Given the description of an element on the screen output the (x, y) to click on. 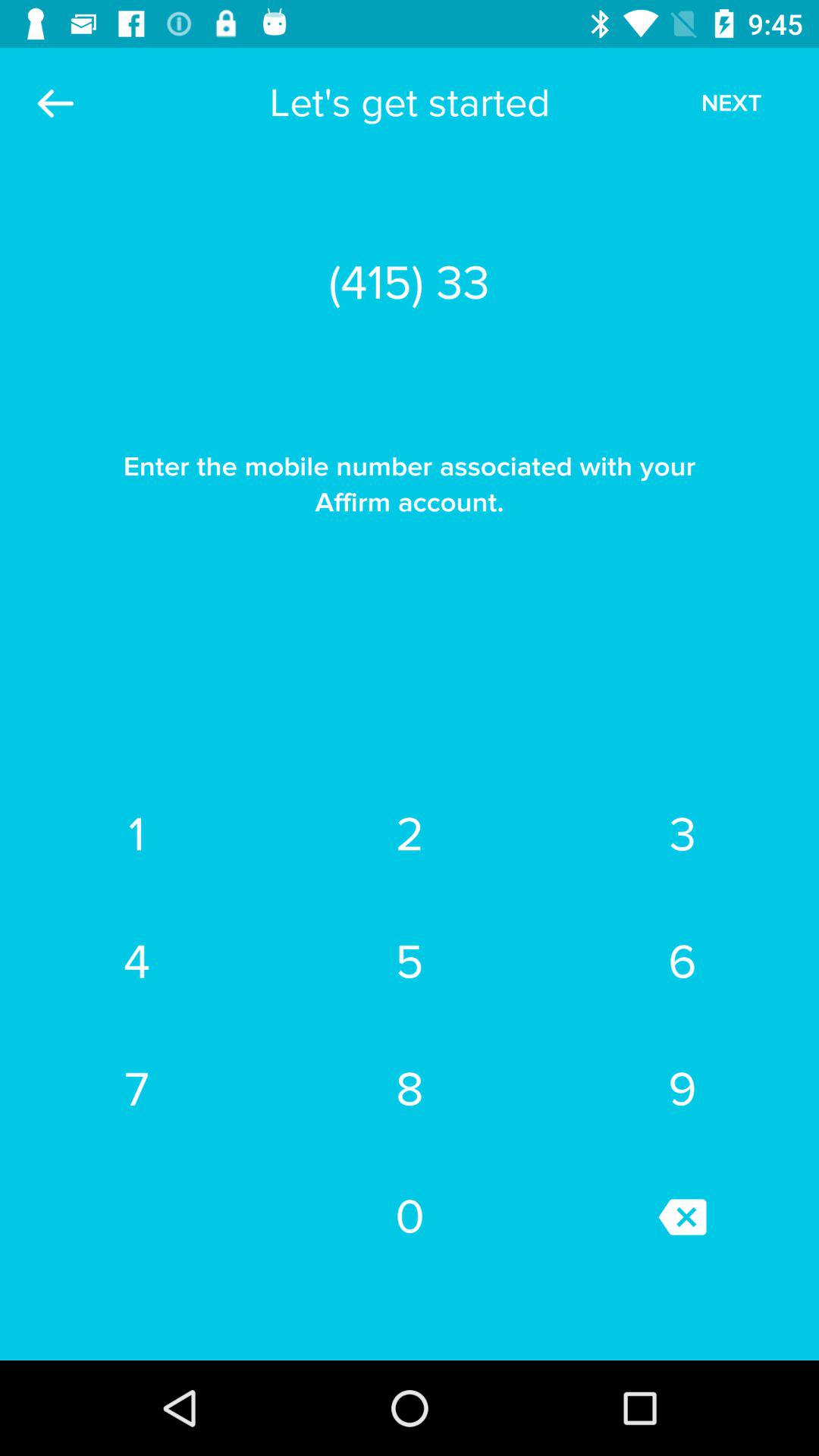
scroll to 8 item (409, 1089)
